Given the description of an element on the screen output the (x, y) to click on. 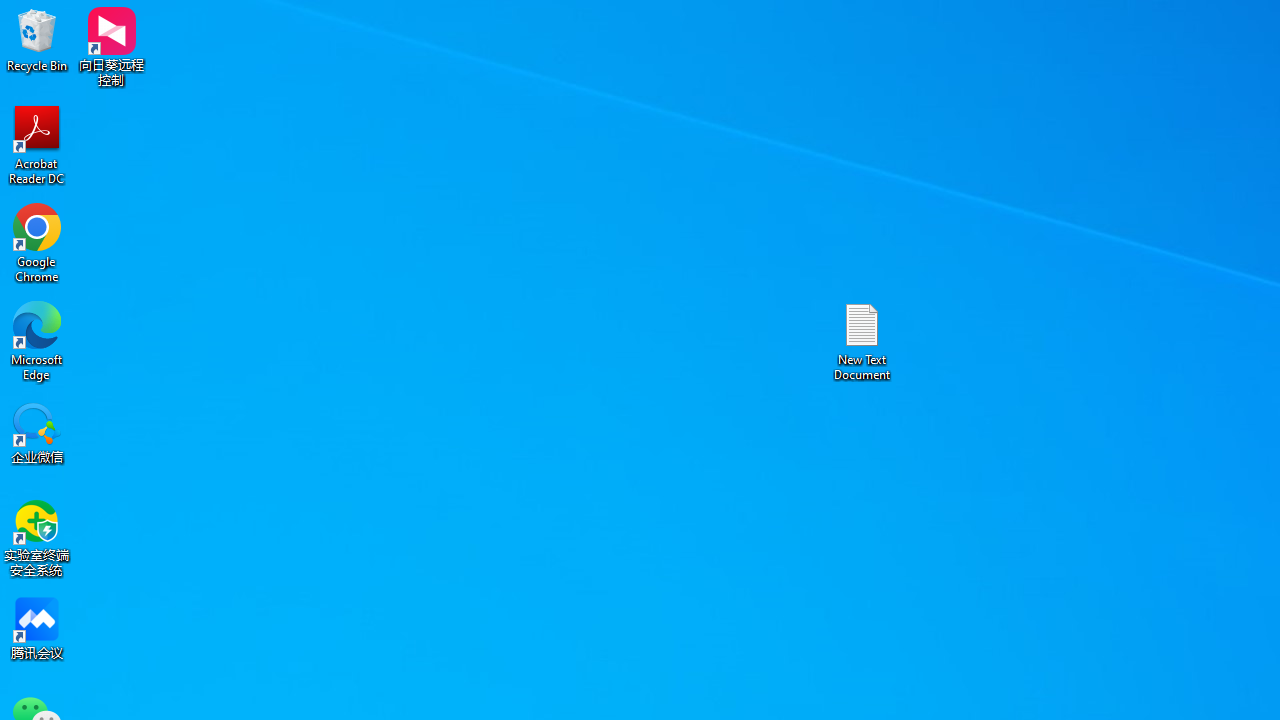
Google Chrome (37, 242)
Acrobat Reader DC (37, 144)
Microsoft Edge (37, 340)
Recycle Bin (37, 39)
New Text Document (861, 340)
